Given the description of an element on the screen output the (x, y) to click on. 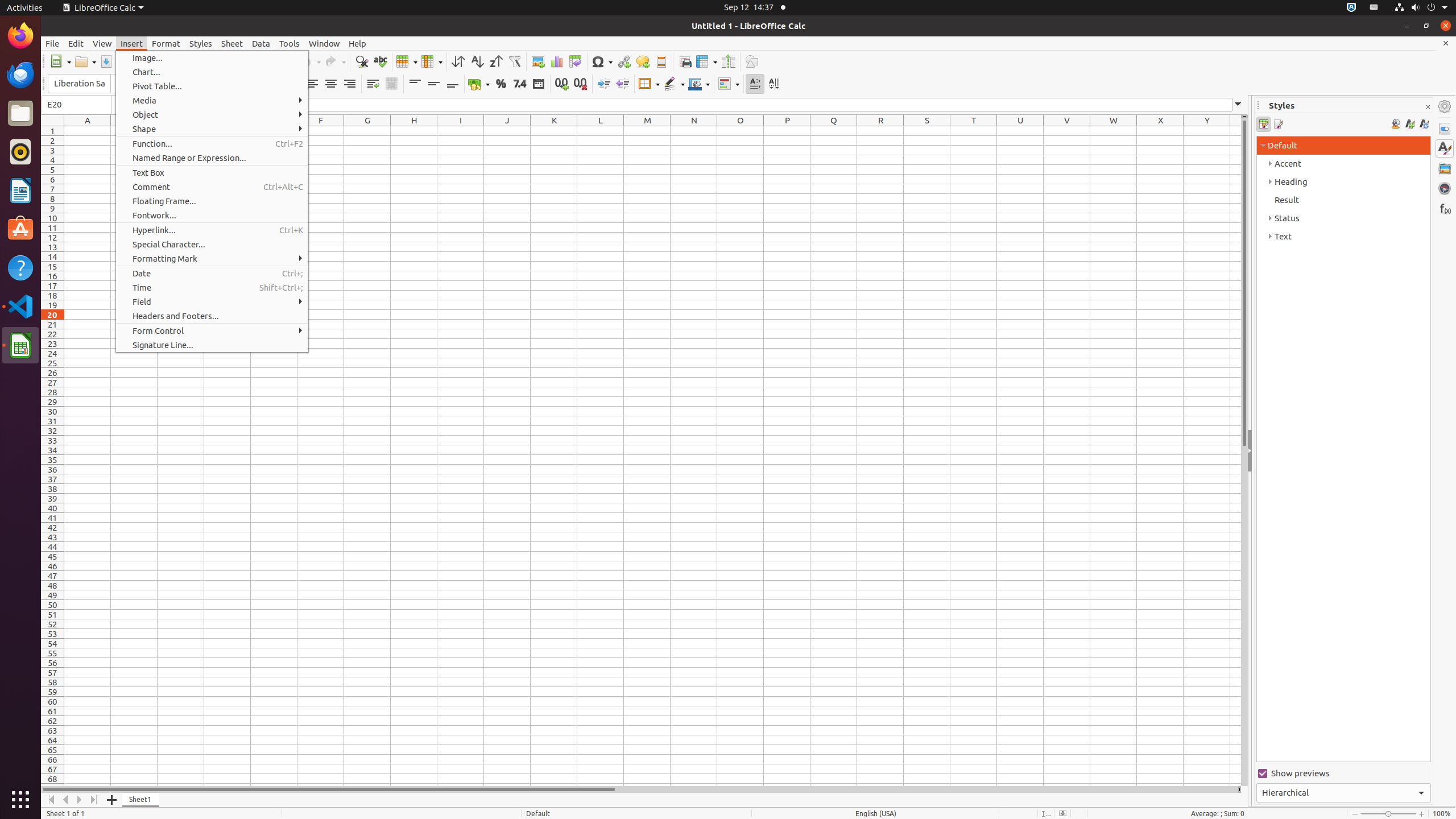
Redo Element type: push-button (334, 61)
Increase Element type: push-button (603, 83)
Move To Home Element type: push-button (51, 799)
Text direction from left to right Element type: toggle-button (754, 83)
Pivot Table Element type: push-button (574, 61)
